Given the description of an element on the screen output the (x, y) to click on. 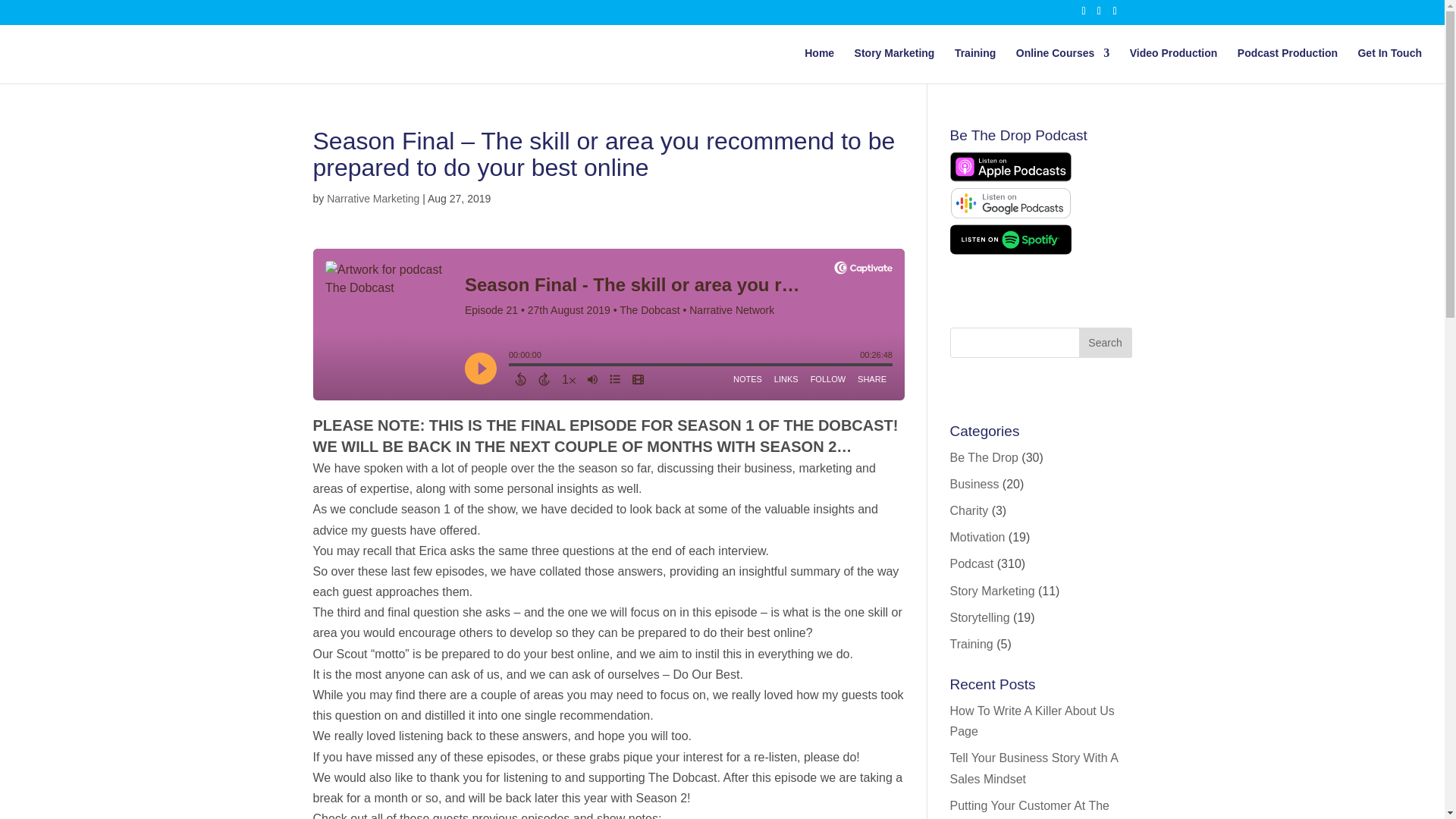
Story Marketing (894, 65)
Narrative Marketing (372, 198)
Get In Touch (1389, 65)
Training (975, 65)
Posts by Narrative Marketing (372, 198)
Online Courses (1062, 65)
Podcast Production (1287, 65)
Video Production (1173, 65)
Search (1104, 342)
